Given the description of an element on the screen output the (x, y) to click on. 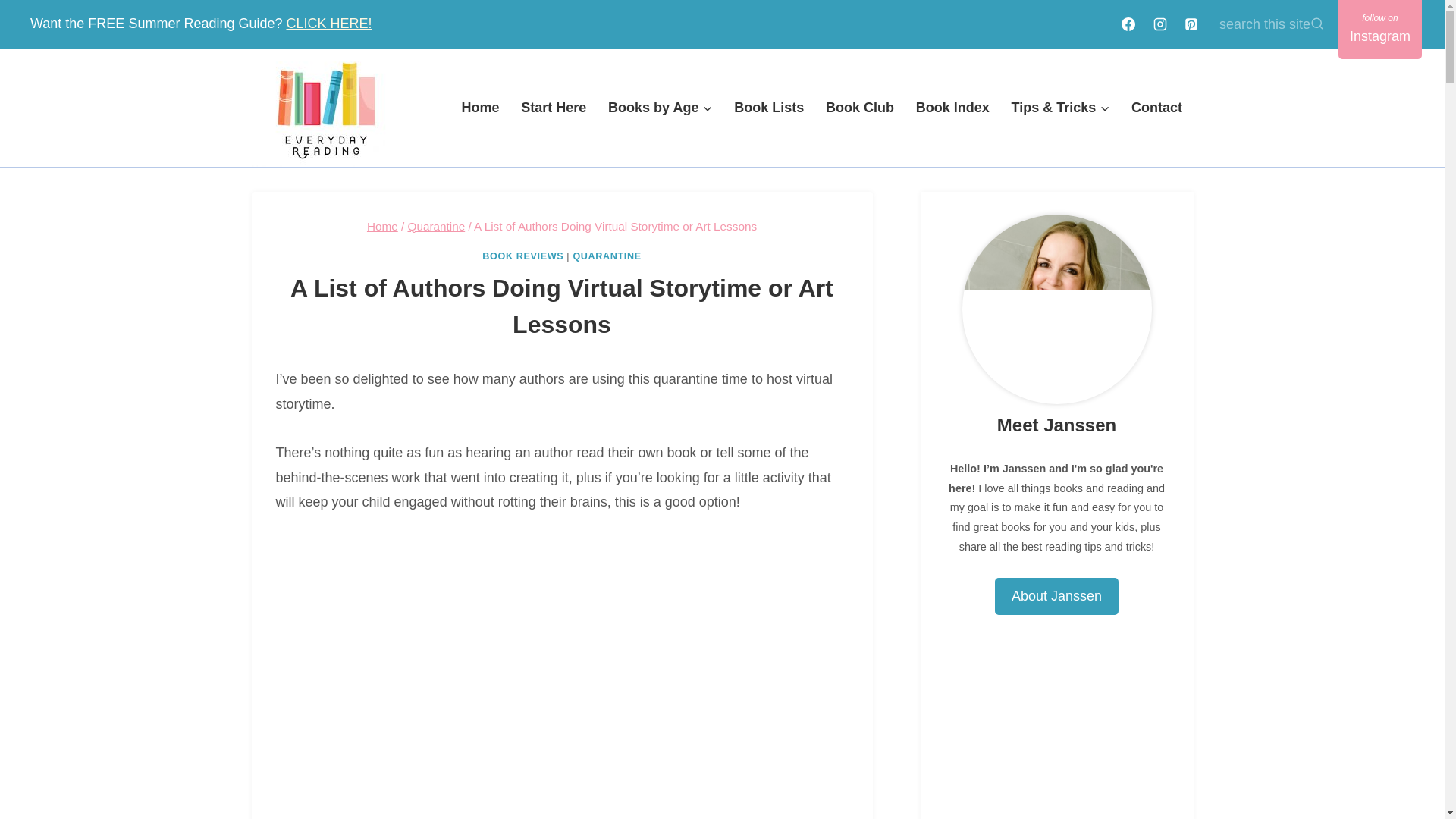
Book Club (860, 106)
QUARANTINE (606, 255)
Quarantine (435, 226)
Start Here (553, 106)
Book Lists (769, 106)
BOOK REVIEWS (522, 255)
Contact (1157, 106)
Books by Age (659, 106)
Instagram (1380, 29)
CLICK HERE! (328, 23)
